Given the description of an element on the screen output the (x, y) to click on. 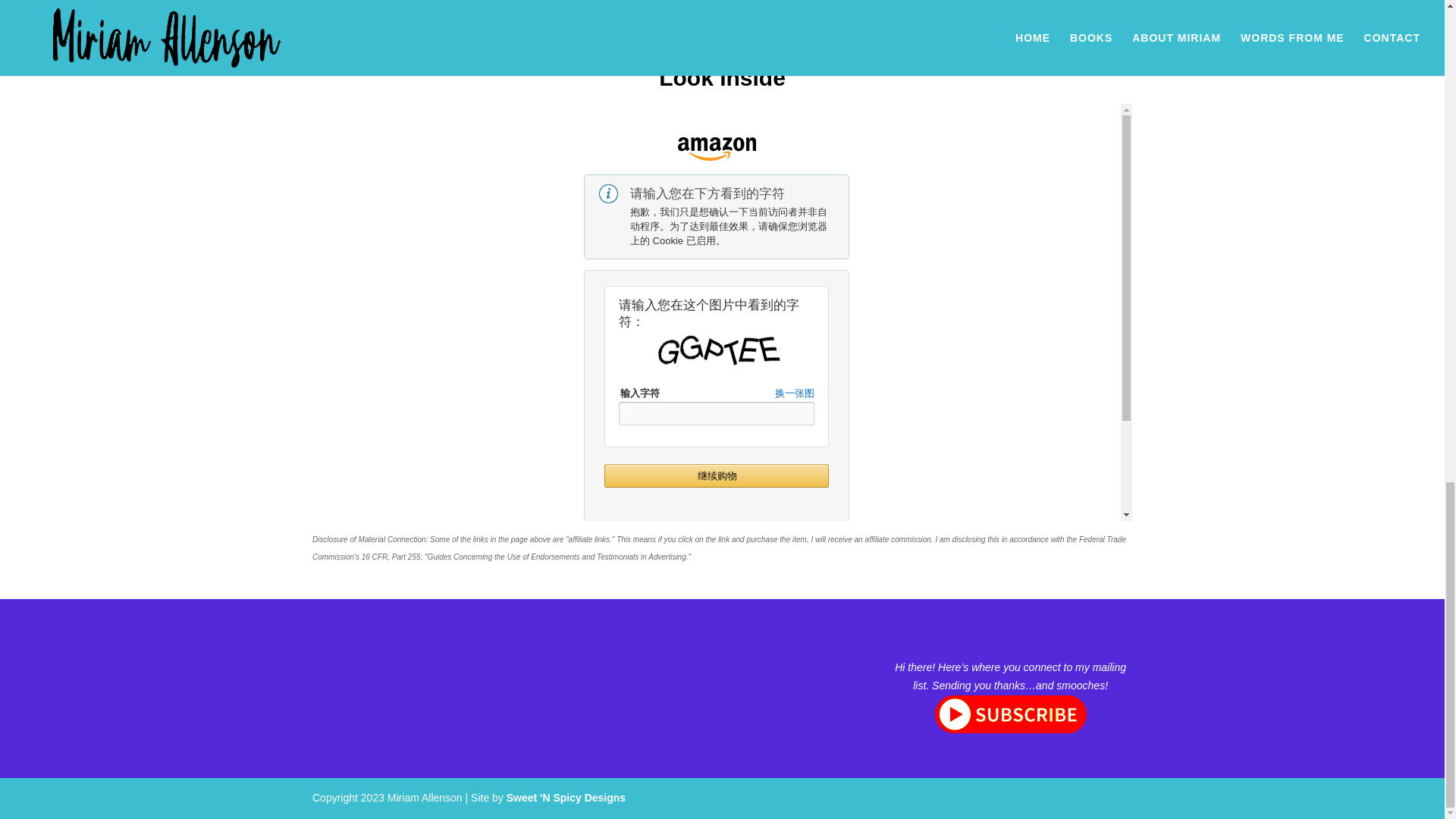
16 CFR, Part 255 (390, 556)
Sweet 'N Spicy Designs (566, 797)
When the Duke Finds His Heart (365, 2)
